Given the description of an element on the screen output the (x, y) to click on. 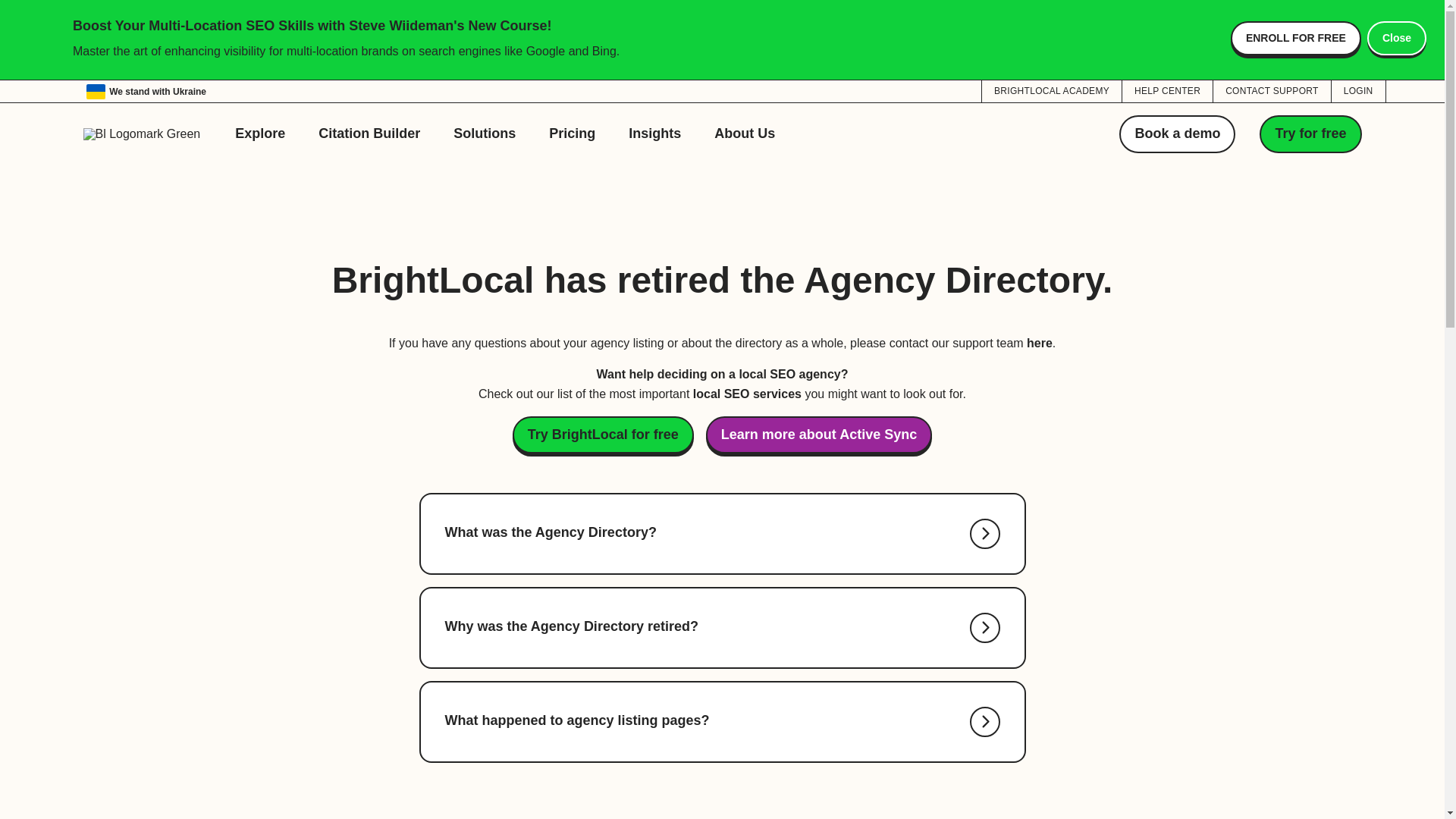
ENROLL FOR FREE (1295, 38)
CONTACT SUPPORT (1271, 90)
HELP CENTER (1167, 90)
BRIGHTLOCAL ACADEMY (1051, 90)
ENROLL FOR FREE (1295, 38)
Explore (259, 134)
We stand with Ukraine (145, 91)
LOGIN (1359, 90)
Close (1396, 38)
Solutions (483, 134)
Citation Builder (368, 134)
